Given the description of an element on the screen output the (x, y) to click on. 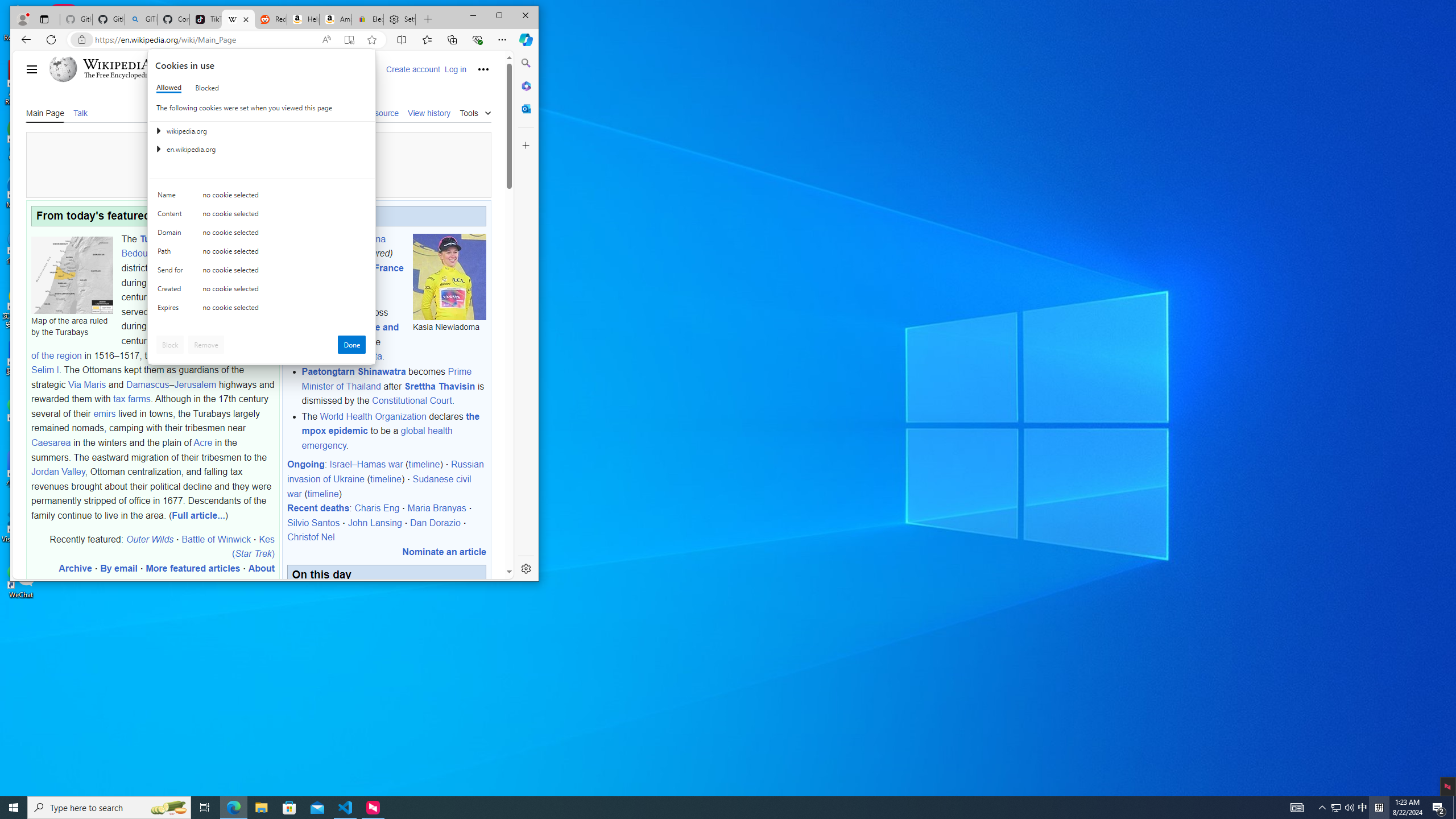
File Explorer (261, 807)
Domain (172, 235)
Action Center, 2 new notifications (1439, 807)
Created (172, 291)
AutomationID: 4105 (1297, 807)
Remove (205, 344)
